Given the description of an element on the screen output the (x, y) to click on. 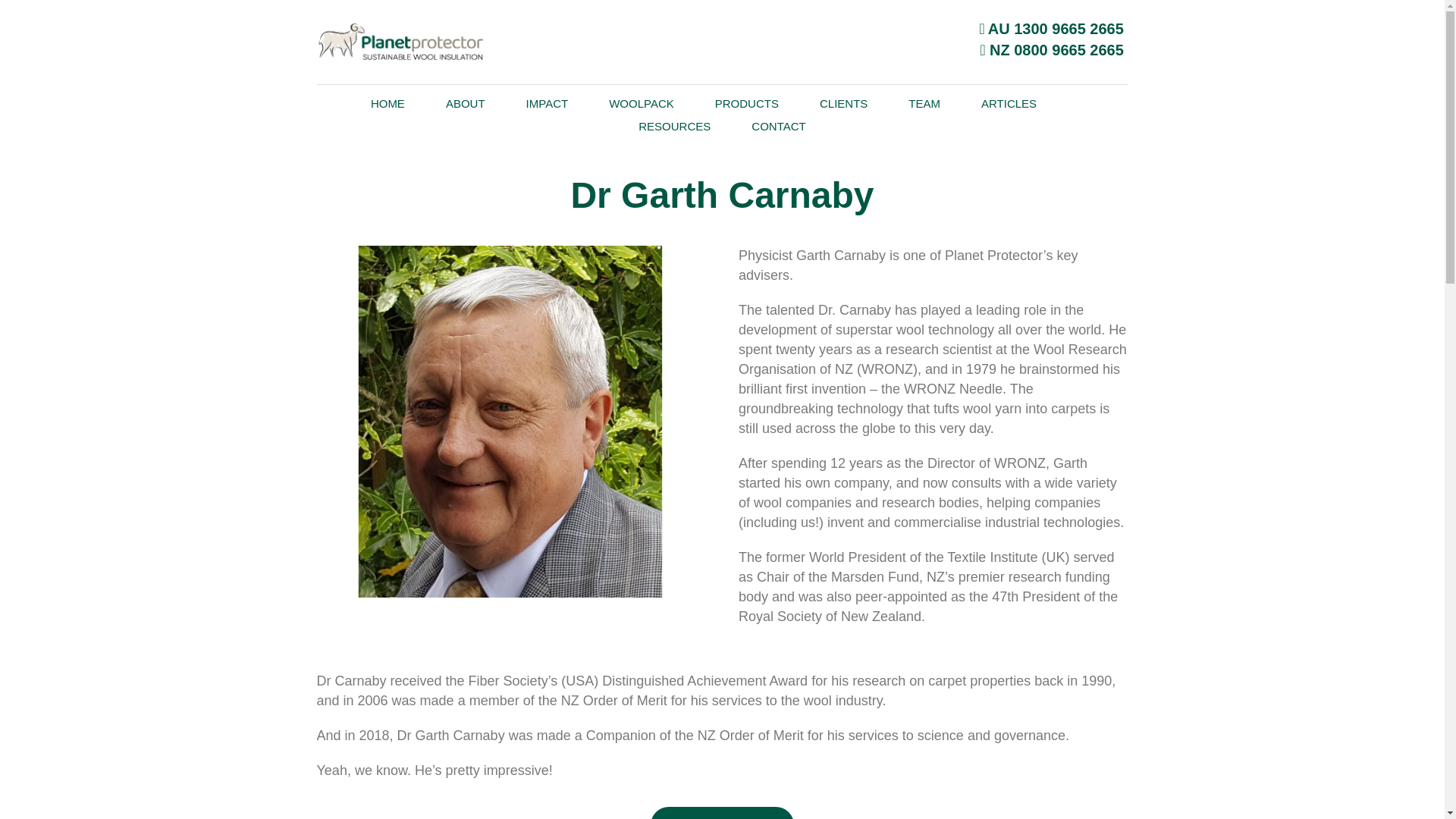
CONTACT (778, 126)
PRODUCTS (764, 103)
WOOLPACK (659, 103)
ARTICLES (1027, 103)
NZ 0800 9665 2665 (1051, 49)
CLIENTS (861, 103)
MEET THE TEAM (721, 812)
AU 1300 9665 2665 (1051, 28)
HOME (406, 103)
